Given the description of an element on the screen output the (x, y) to click on. 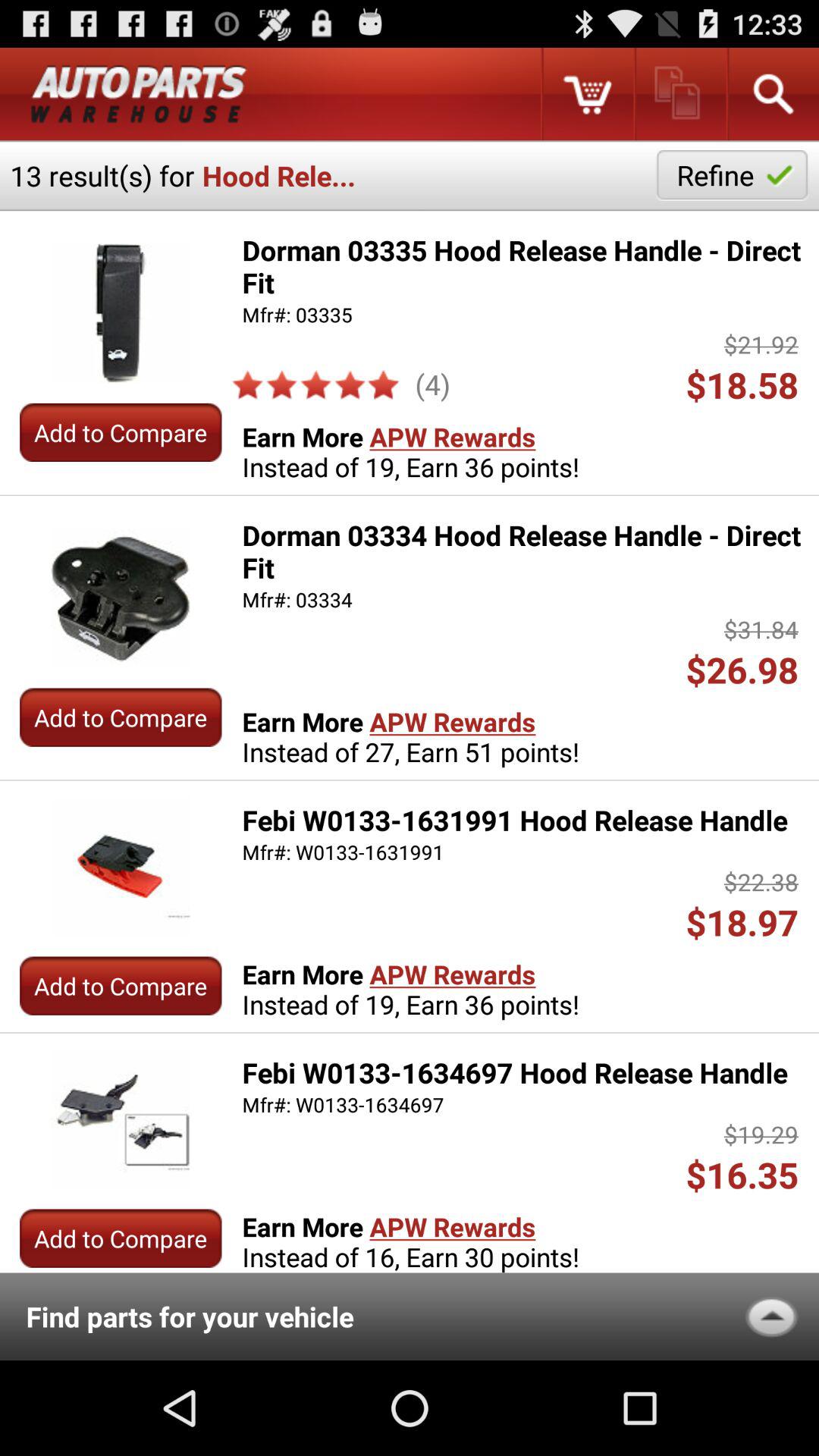
enter search criteria (772, 93)
